Given the description of an element on the screen output the (x, y) to click on. 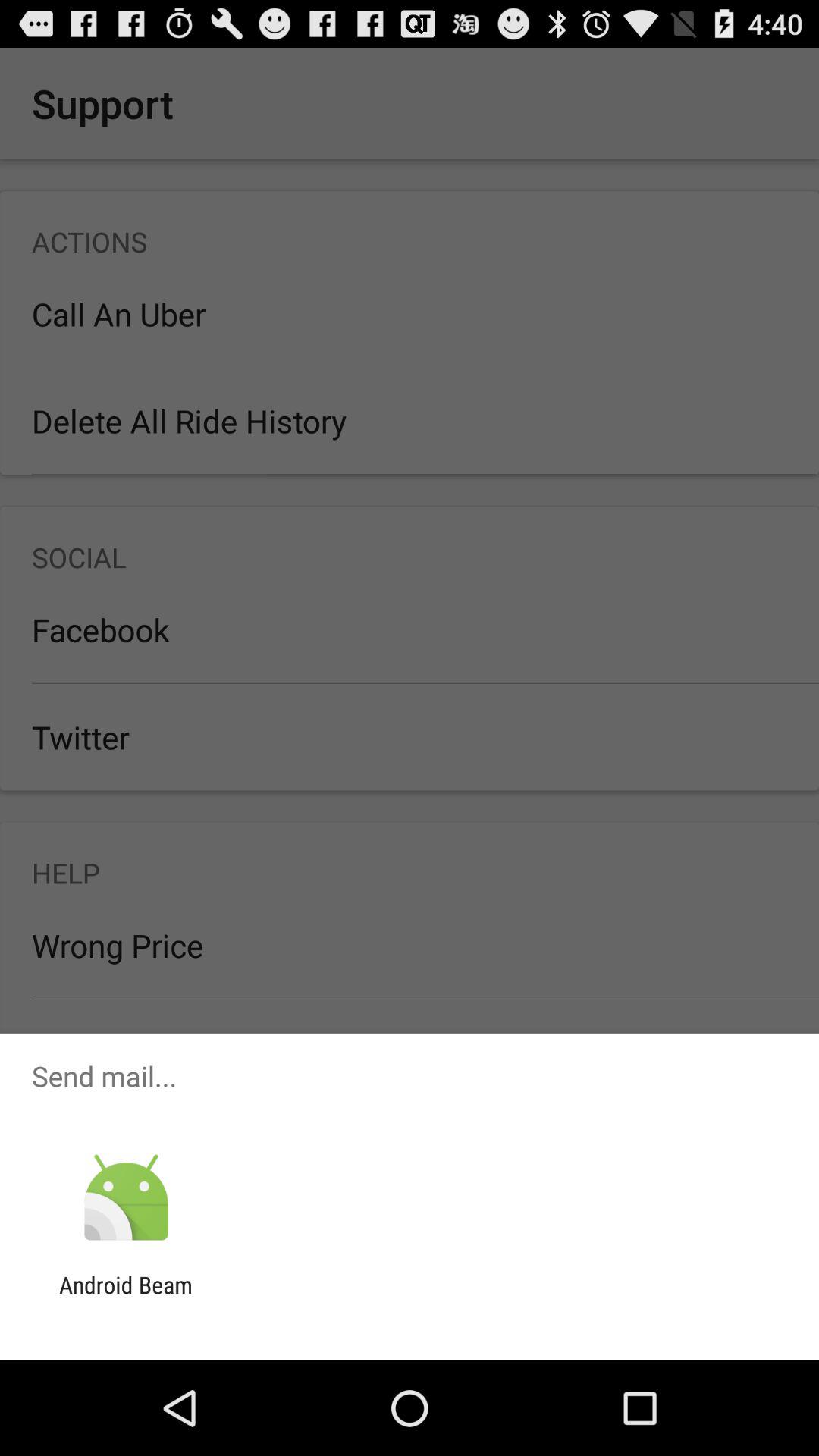
choose the android beam item (125, 1298)
